Given the description of an element on the screen output the (x, y) to click on. 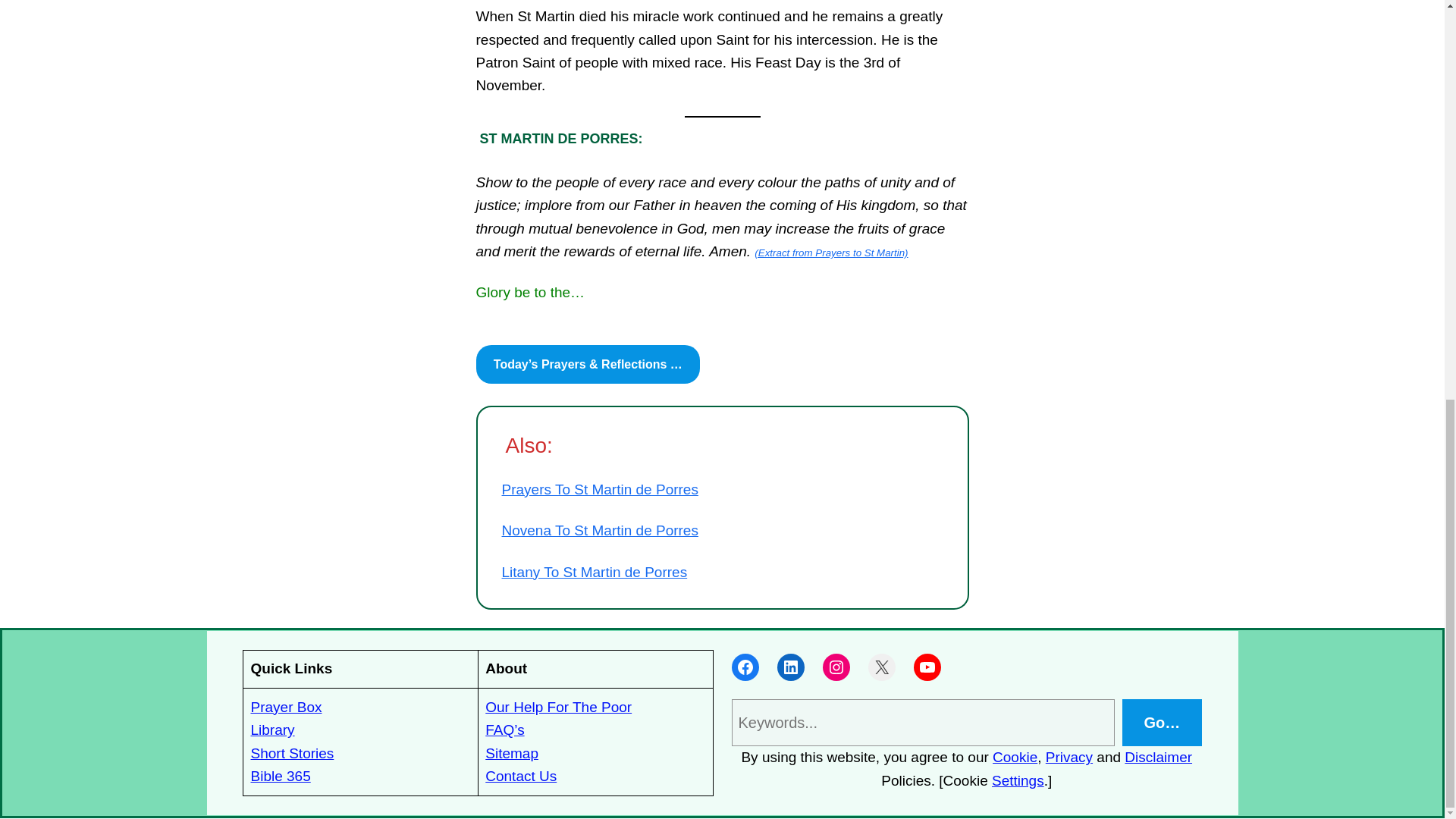
Disclaimer (1158, 756)
Bible 365 (280, 775)
Novena To St Martin de Porres (600, 530)
X (881, 666)
Short Stories (291, 753)
LinkedIn (789, 666)
Our Help For The Poor (557, 706)
Prayer Box (285, 706)
YouTube (926, 666)
Contact Us (520, 775)
